Given the description of an element on the screen output the (x, y) to click on. 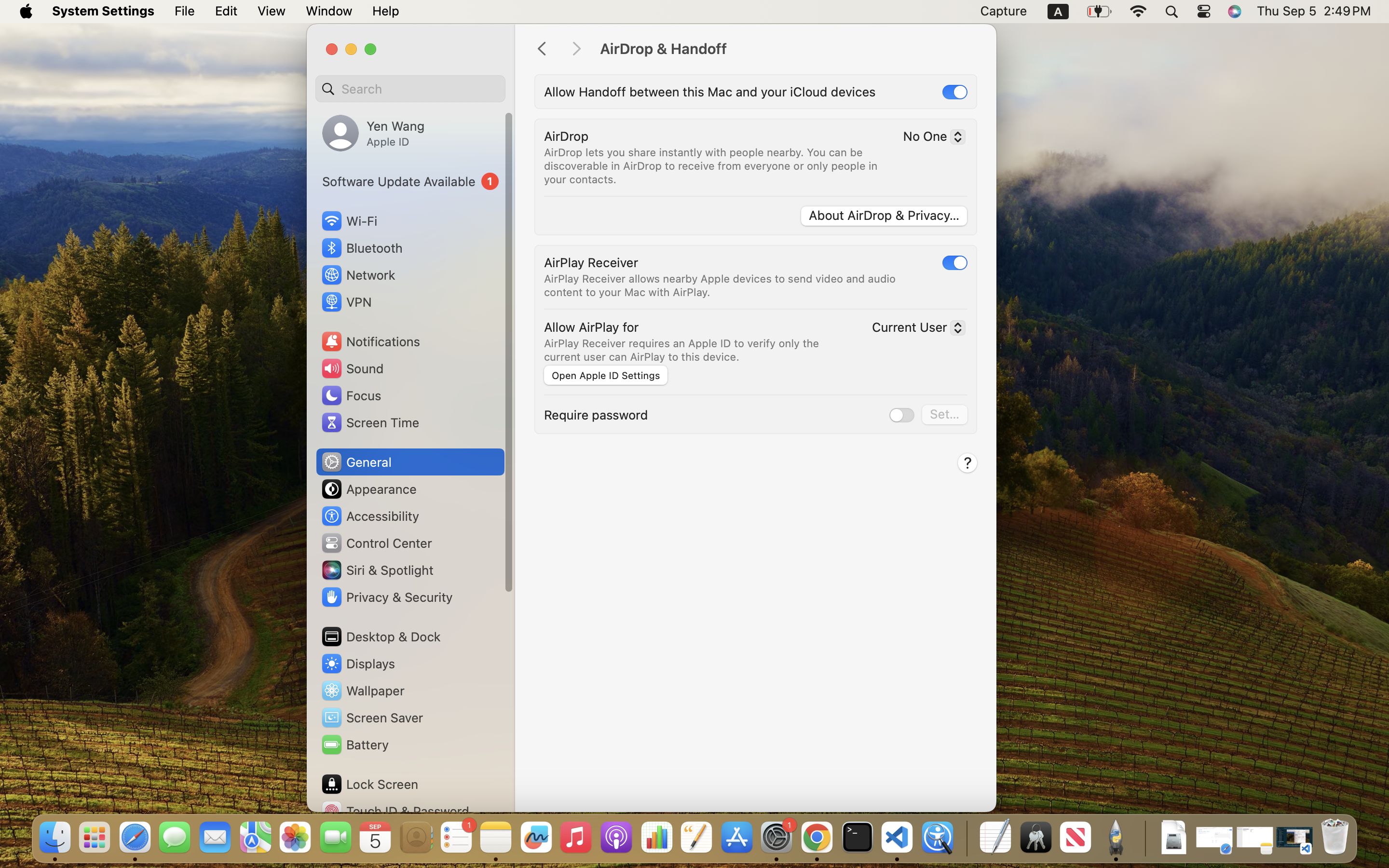
Bluetooth Element type: AXStaticText (361, 247)
Current User Element type: AXPopUpButton (914, 329)
Sound Element type: AXStaticText (351, 367)
AirPlay Receiver Element type: AXStaticText (591, 262)
AirPlay Receiver requires an Apple ID to verify only the current user can AirPlay to this device. Element type: AXStaticText (682, 349)
